Given the description of an element on the screen output the (x, y) to click on. 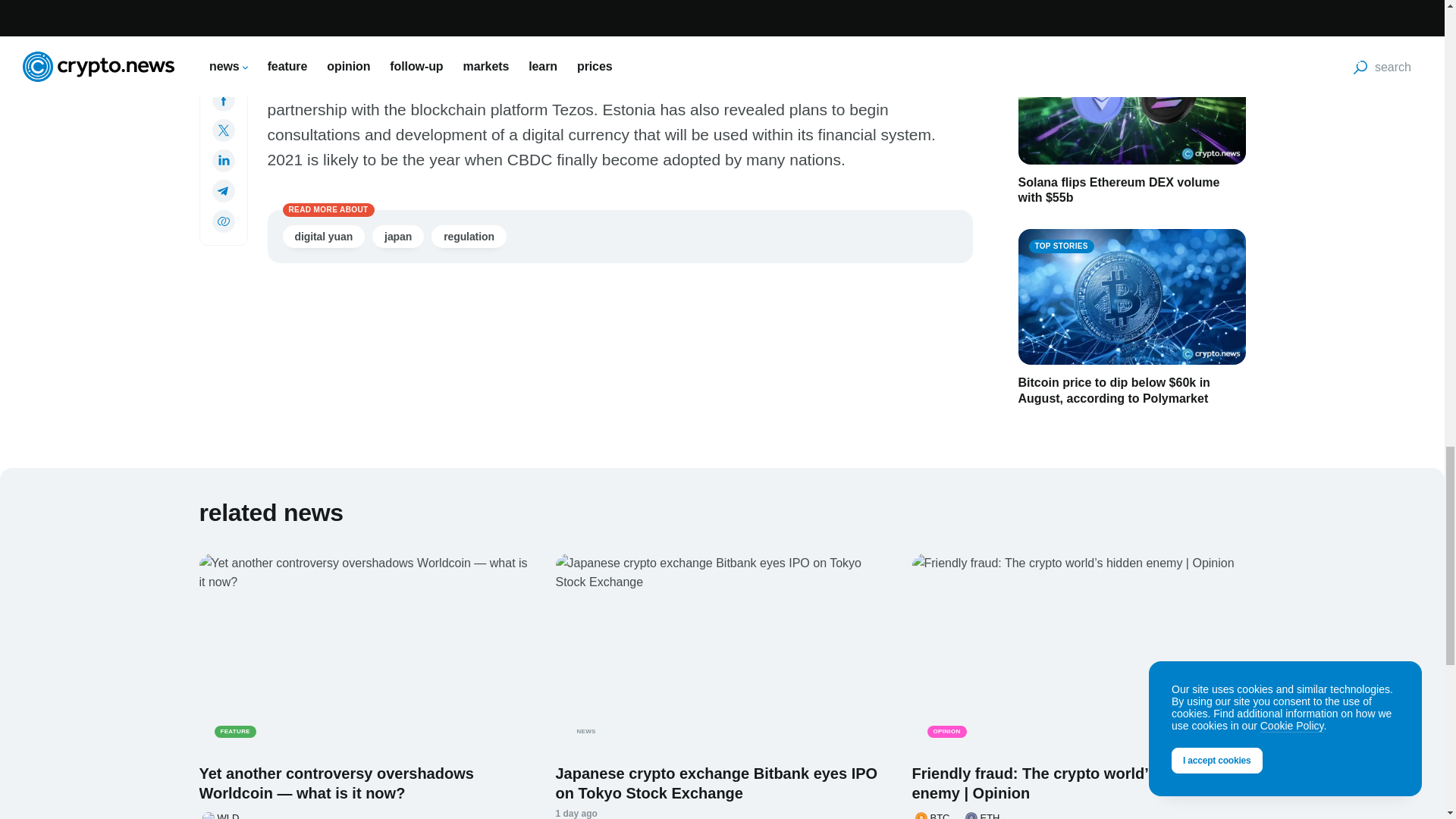
July 31, 2024 at 12:14 pm (575, 813)
